Given the description of an element on the screen output the (x, y) to click on. 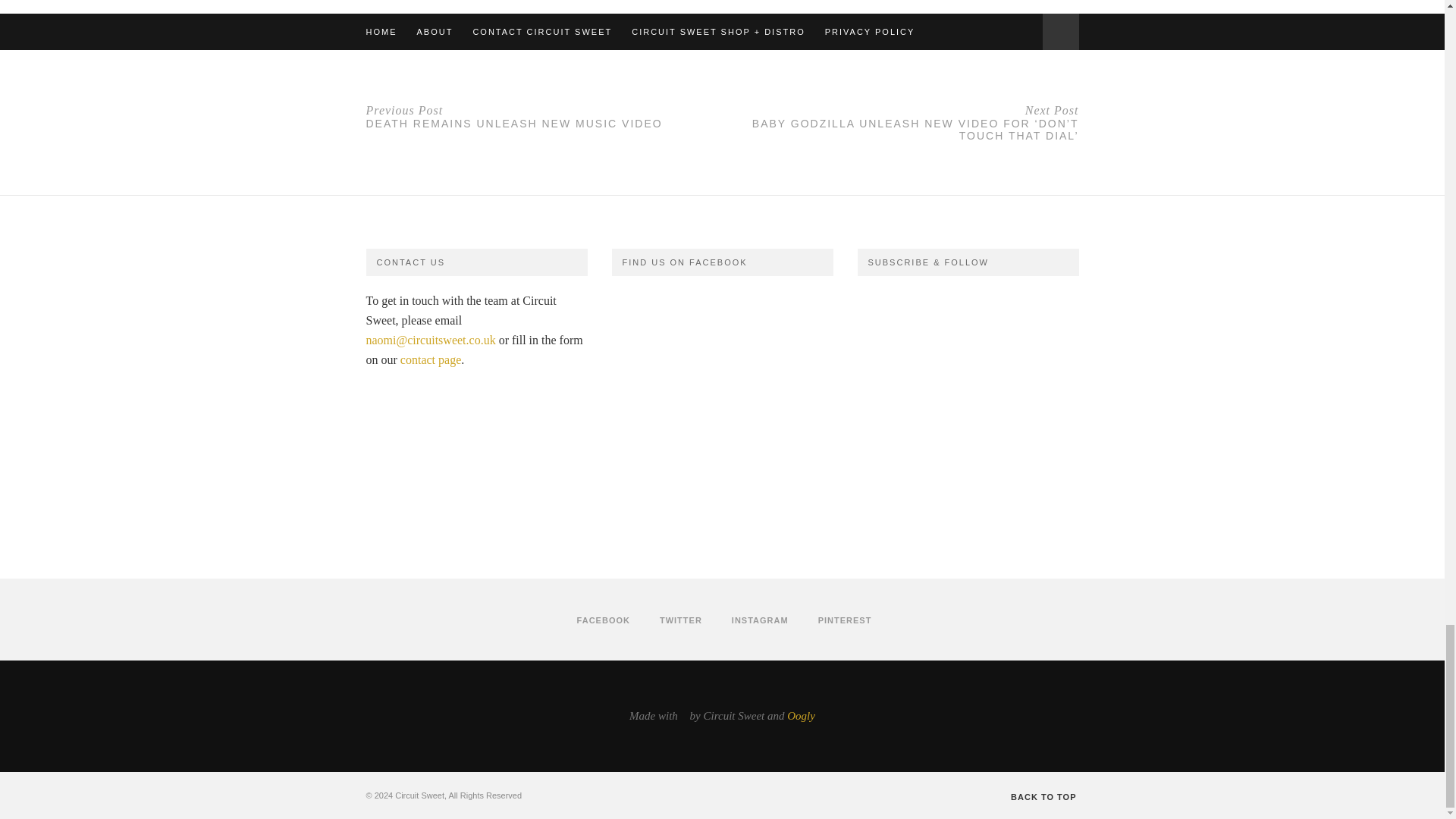
Learn how your comment data is processed (662, 31)
contact page (430, 359)
